Given the description of an element on the screen output the (x, y) to click on. 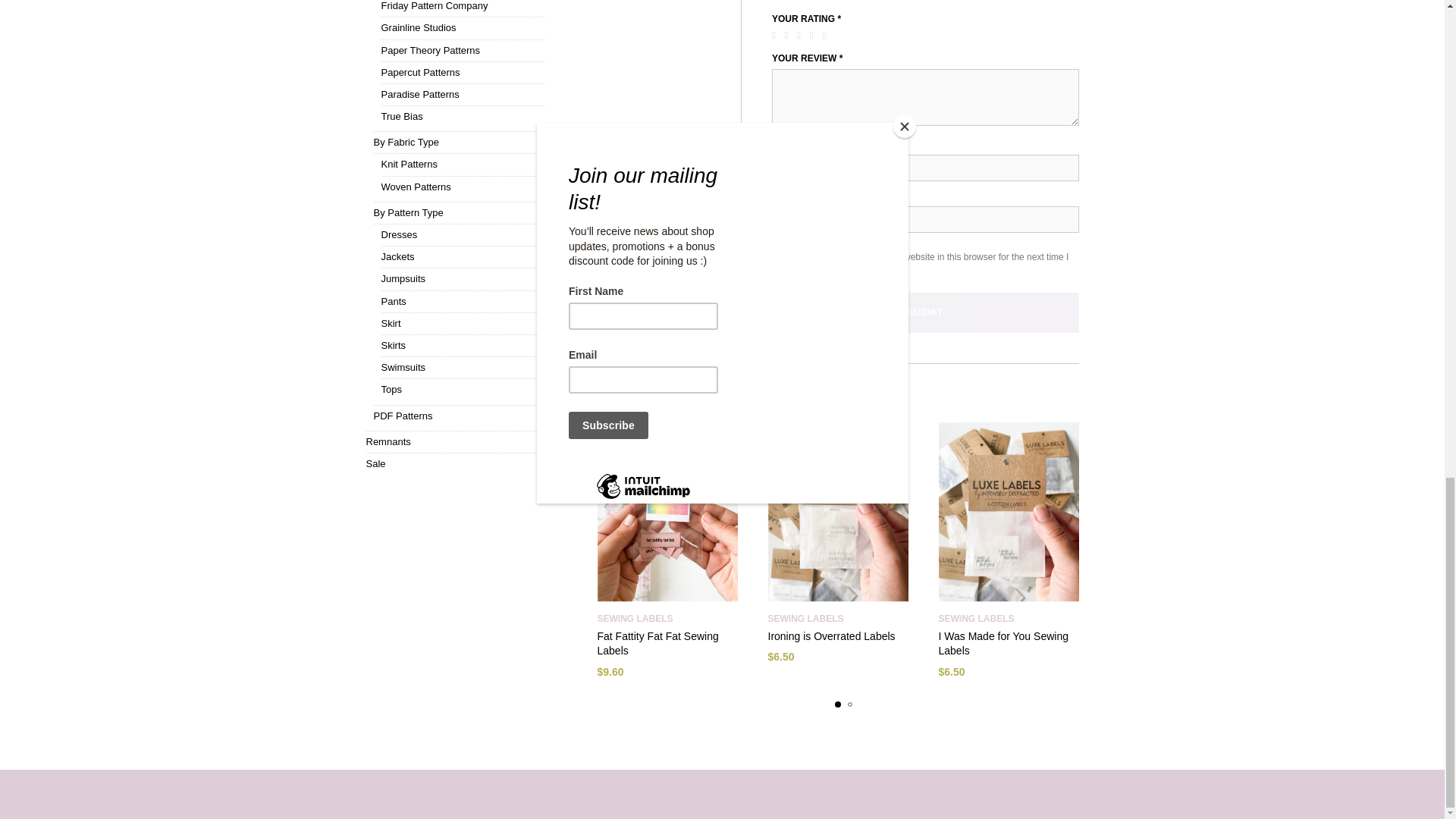
5 (826, 35)
1 (776, 35)
Submit (924, 312)
Submit (924, 312)
3 (801, 35)
yes (779, 255)
4 (814, 35)
2 (789, 35)
